Given the description of an element on the screen output the (x, y) to click on. 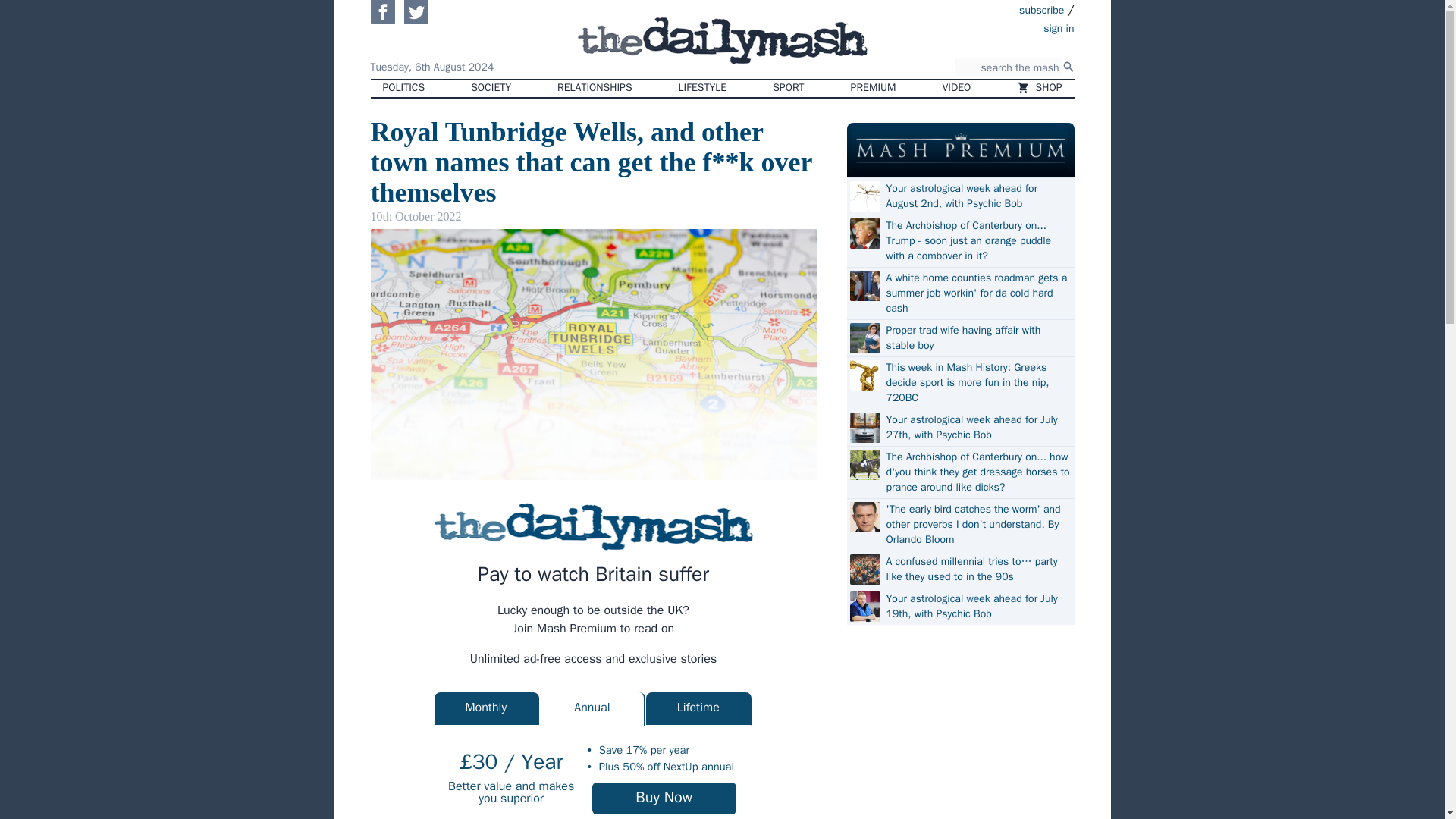
Your astrological week ahead for July 27th, with Psychic Bob (977, 427)
sign in (970, 27)
subscribe (1041, 9)
SOCIETY (490, 88)
Buy Now (664, 798)
RELATIONSHIPS (593, 88)
SPORT (787, 88)
POLITICS (402, 88)
LIFESTYLE (702, 88)
PREMIUM (873, 88)
Proper trad wife having affair with stable boy (977, 337)
SHOP (1039, 88)
